Given the description of an element on the screen output the (x, y) to click on. 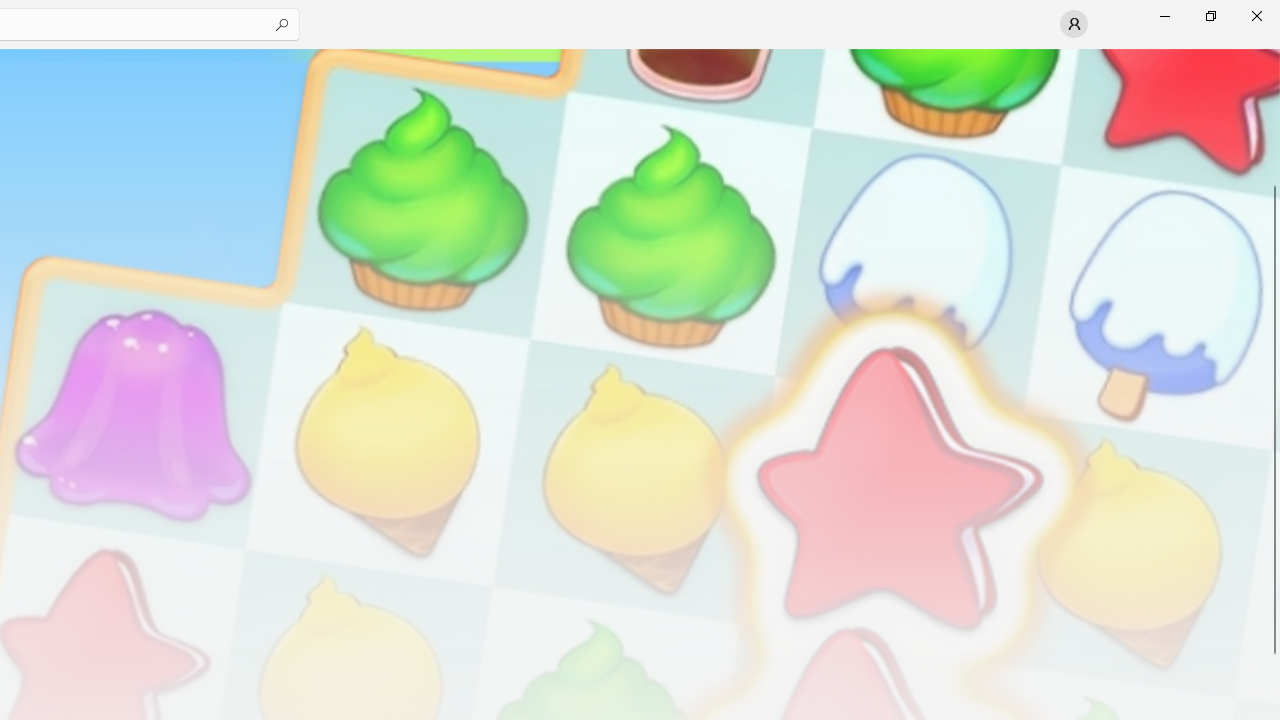
Vertical Large Decrease (1272, 121)
Vertical Small Decrease (1272, 55)
